Given the description of an element on the screen output the (x, y) to click on. 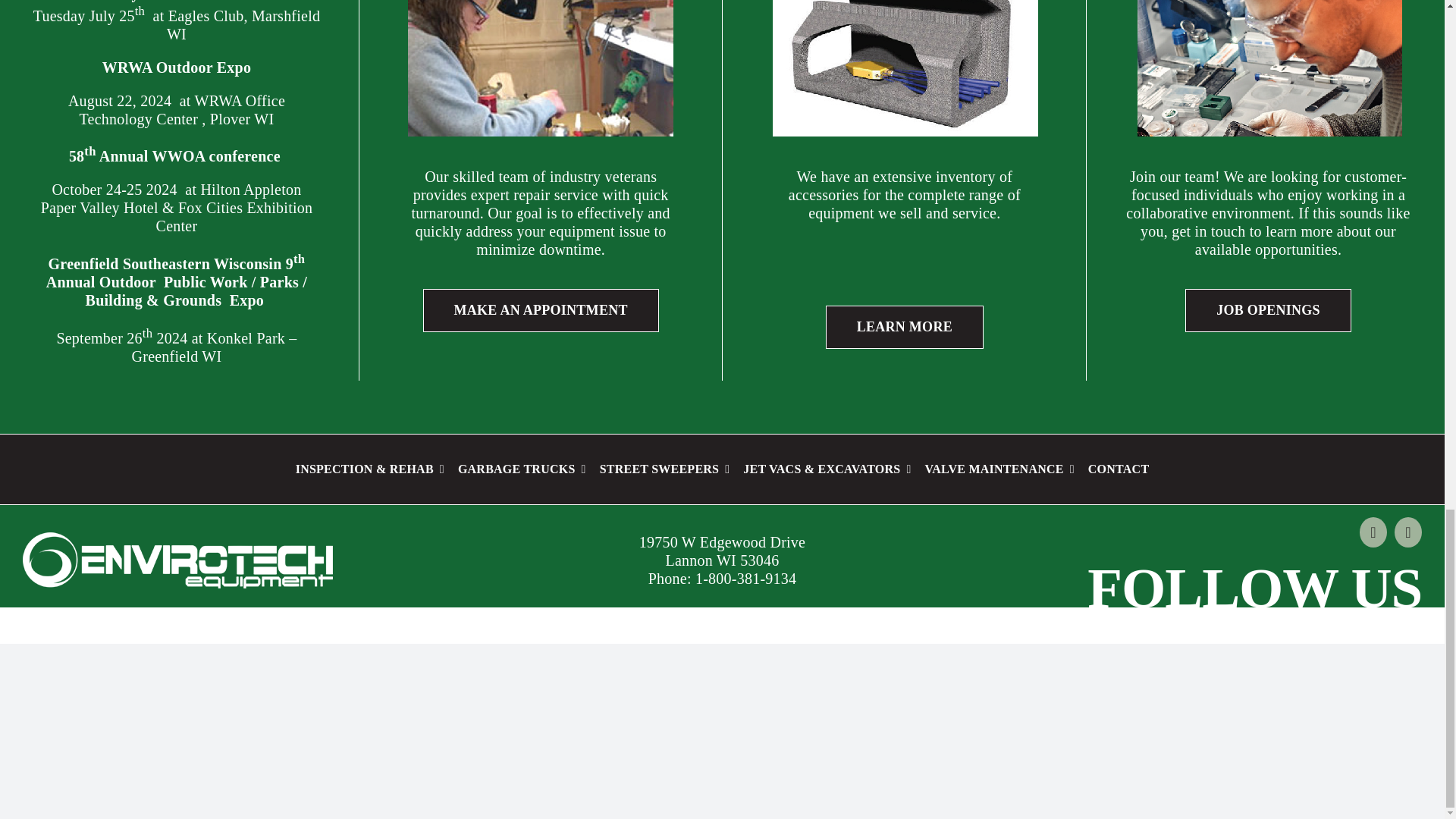
employment-ft (1268, 68)
envirotech-logo-ft (178, 560)
repair-service-ft (540, 68)
accessories-ft (904, 68)
